Given the description of an element on the screen output the (x, y) to click on. 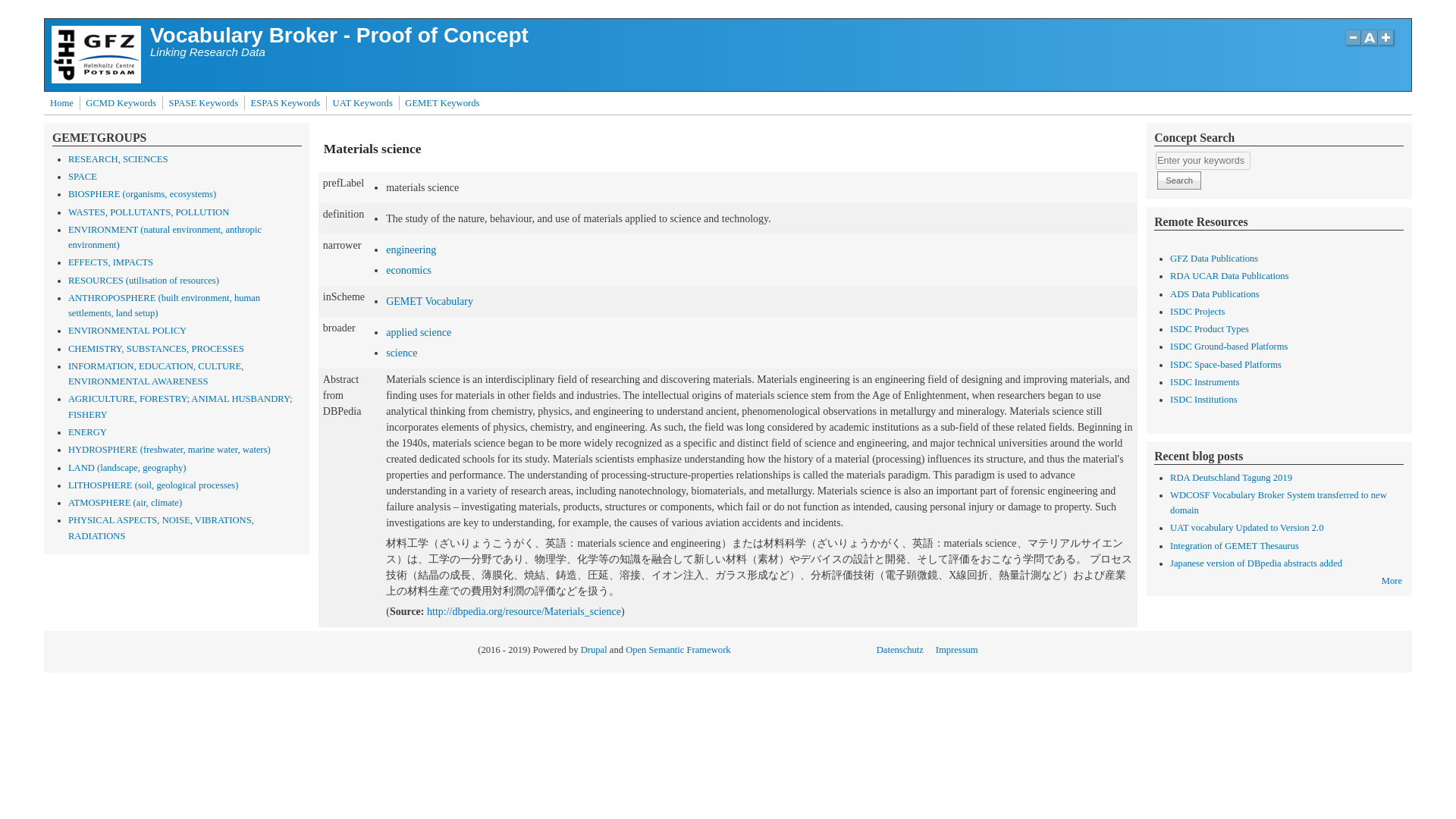
GEMET Keywords (441, 102)
economics (407, 270)
GFZ Data Publications (1213, 258)
GCMD Keywords (120, 102)
Home (95, 79)
AGRICULTURE, FORESTRY; ANIMAL HUSBANDRY; FISHERY (180, 406)
Read the latest blog entries. (1391, 580)
ENVIRONMENTAL POLICY (127, 330)
Home (61, 102)
Search (1179, 180)
EFFECTS, IMPACTS (110, 262)
SPASE Keywords (203, 102)
RESEARCH, SCIENCES (118, 158)
science (400, 352)
engineering (410, 249)
